Given the description of an element on the screen output the (x, y) to click on. 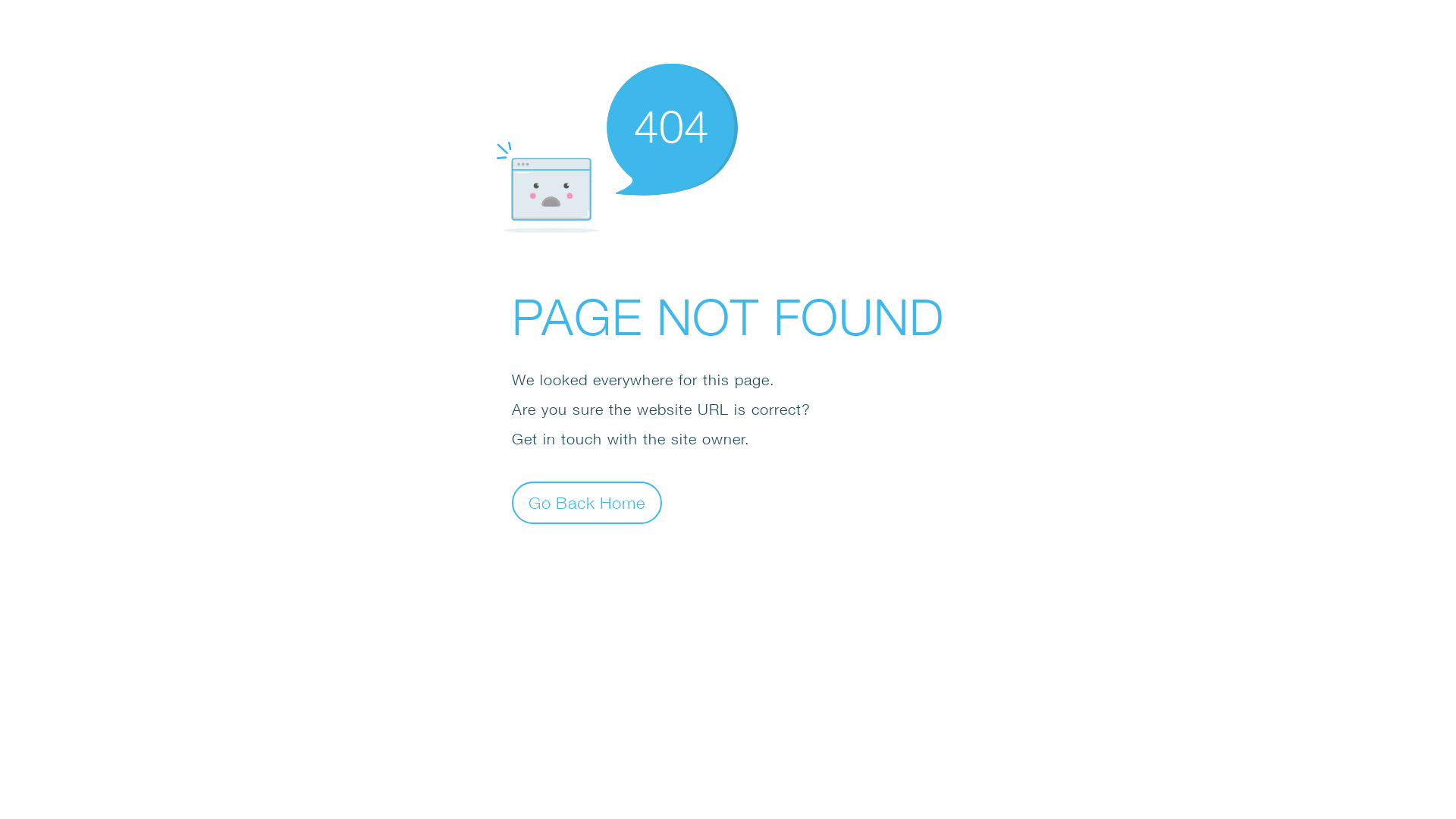
Go Back Home Element type: text (586, 502)
